Given the description of an element on the screen output the (x, y) to click on. 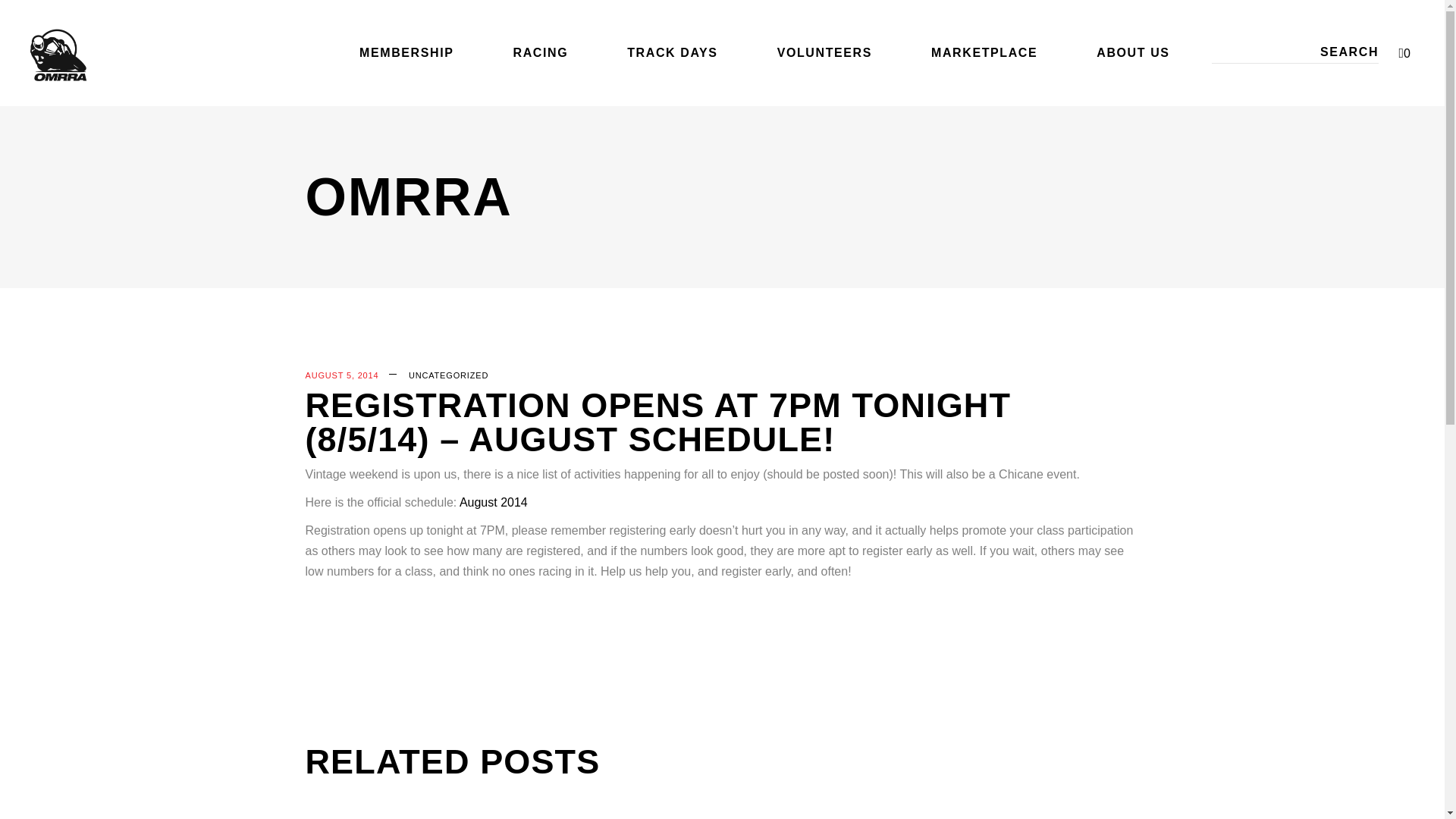
VOLUNTEERS (824, 53)
RACING (539, 53)
MEMBERSHIP (405, 53)
MARKETPLACE (983, 53)
TRACK DAYS (671, 53)
ABOUT US (1132, 53)
